Given the description of an element on the screen output the (x, y) to click on. 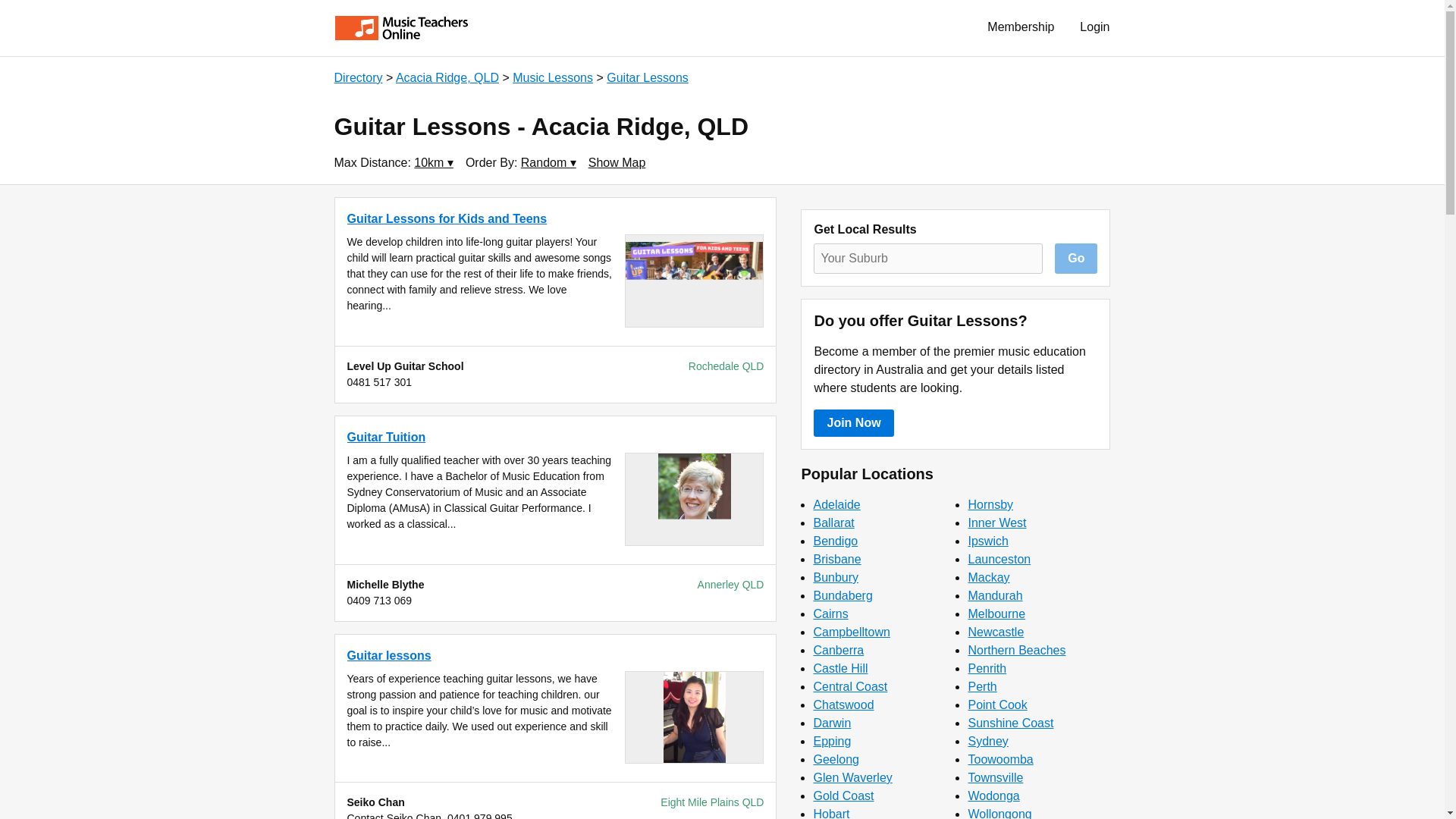
Login (1094, 26)
Music Lessons (552, 77)
Membership (1020, 26)
Directory (357, 77)
Guitar Lessons (647, 77)
Acacia Ridge, QLD (447, 77)
